Given the description of an element on the screen output the (x, y) to click on. 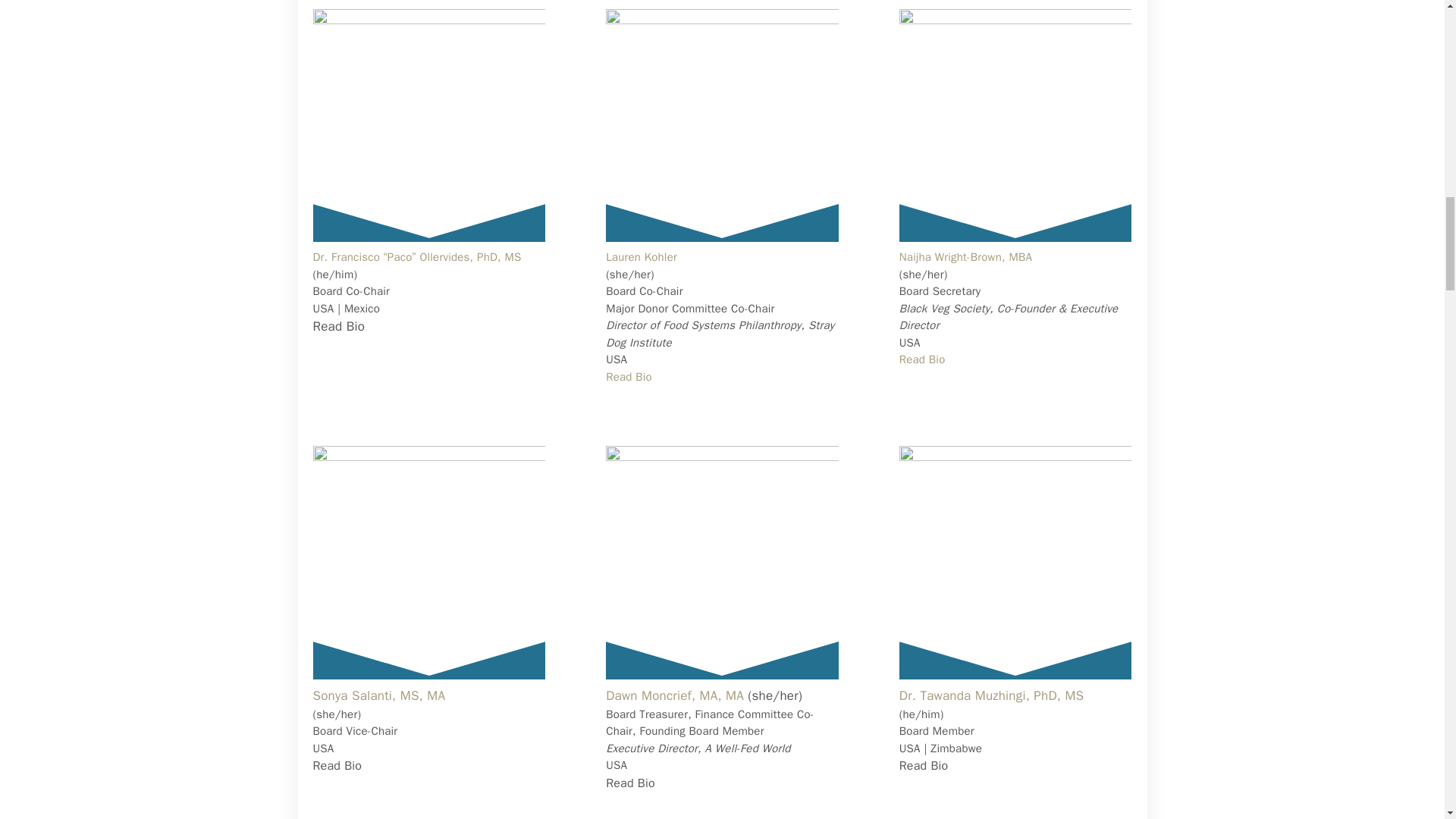
Lauren (721, 125)
Tawanda (1015, 561)
Sonya (428, 561)
Naijha (1015, 125)
Dawn-bg (721, 561)
